Given the description of an element on the screen output the (x, y) to click on. 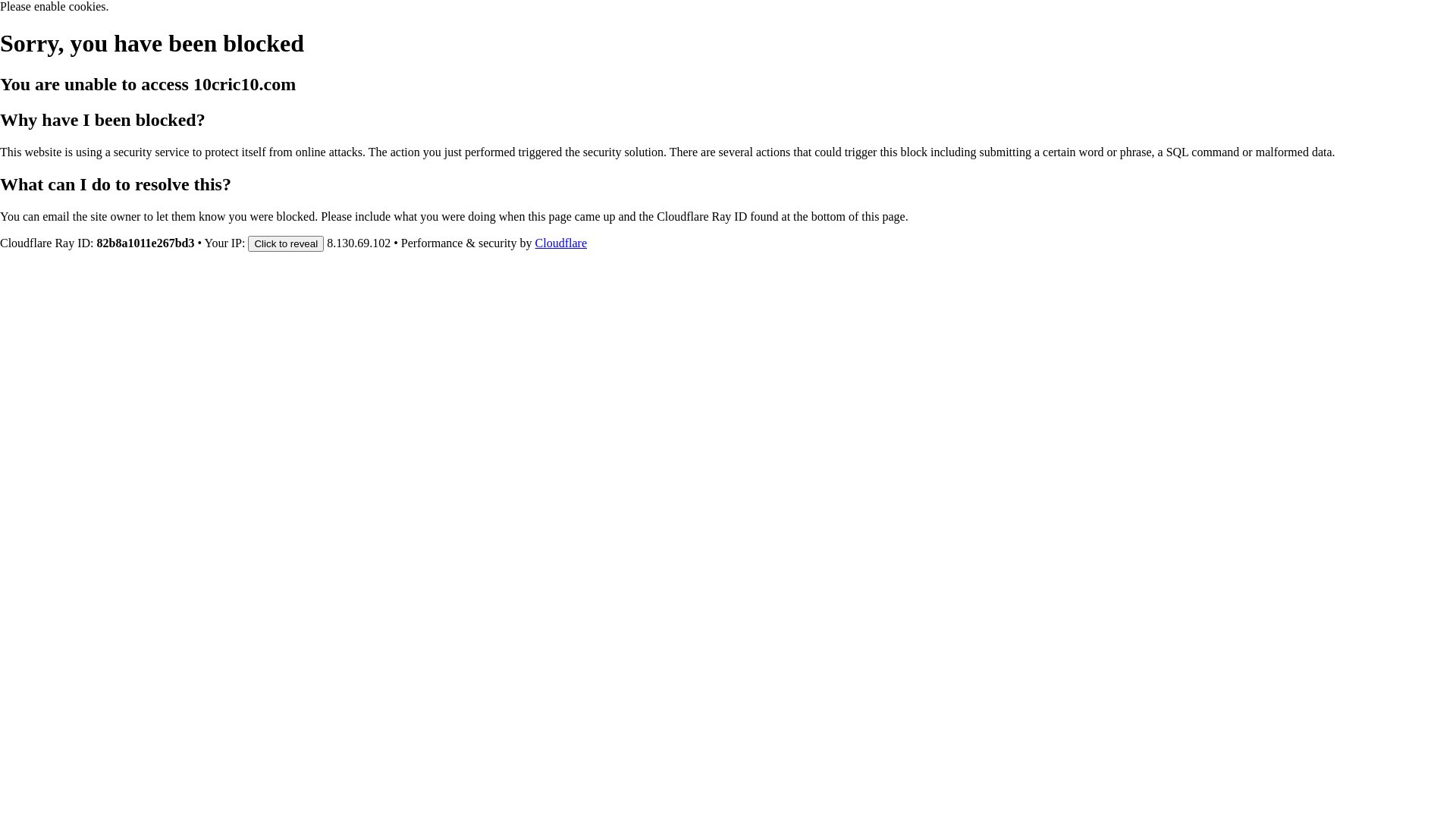
Click to reveal Element type: text (285, 243)
Cloudflare Element type: text (560, 242)
